Given the description of an element on the screen output the (x, y) to click on. 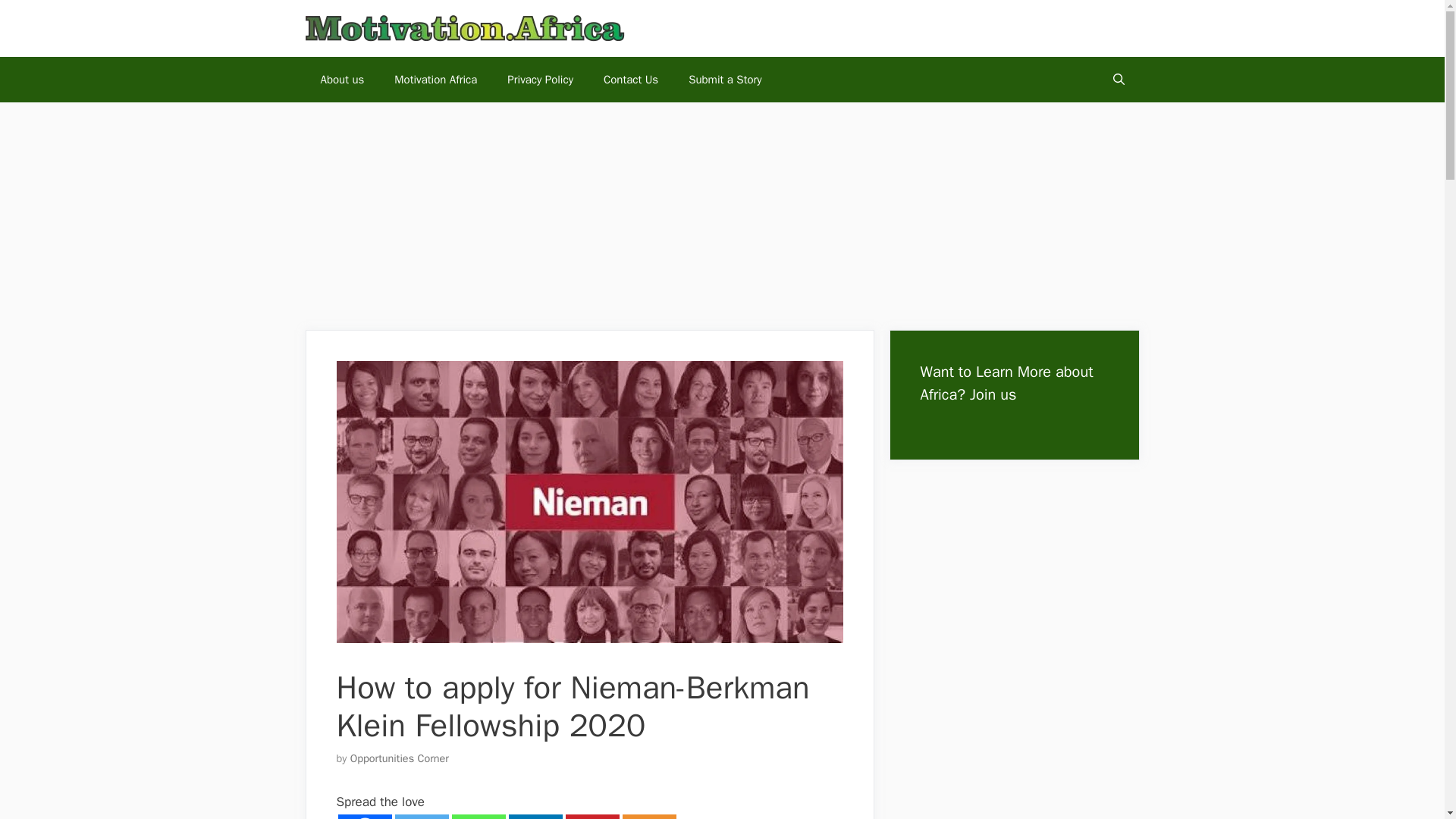
View all posts by Opportunities Corner (399, 757)
Contact Us (630, 79)
Submit a Story (724, 79)
Facebook (364, 816)
Twitter (421, 816)
More (648, 816)
Whatsapp (478, 816)
About us (341, 79)
Privacy Policy (540, 79)
Linkedin (535, 816)
Motivation Africa (435, 79)
Opportunities Corner (399, 757)
Pinterest (593, 816)
